Given the description of an element on the screen output the (x, y) to click on. 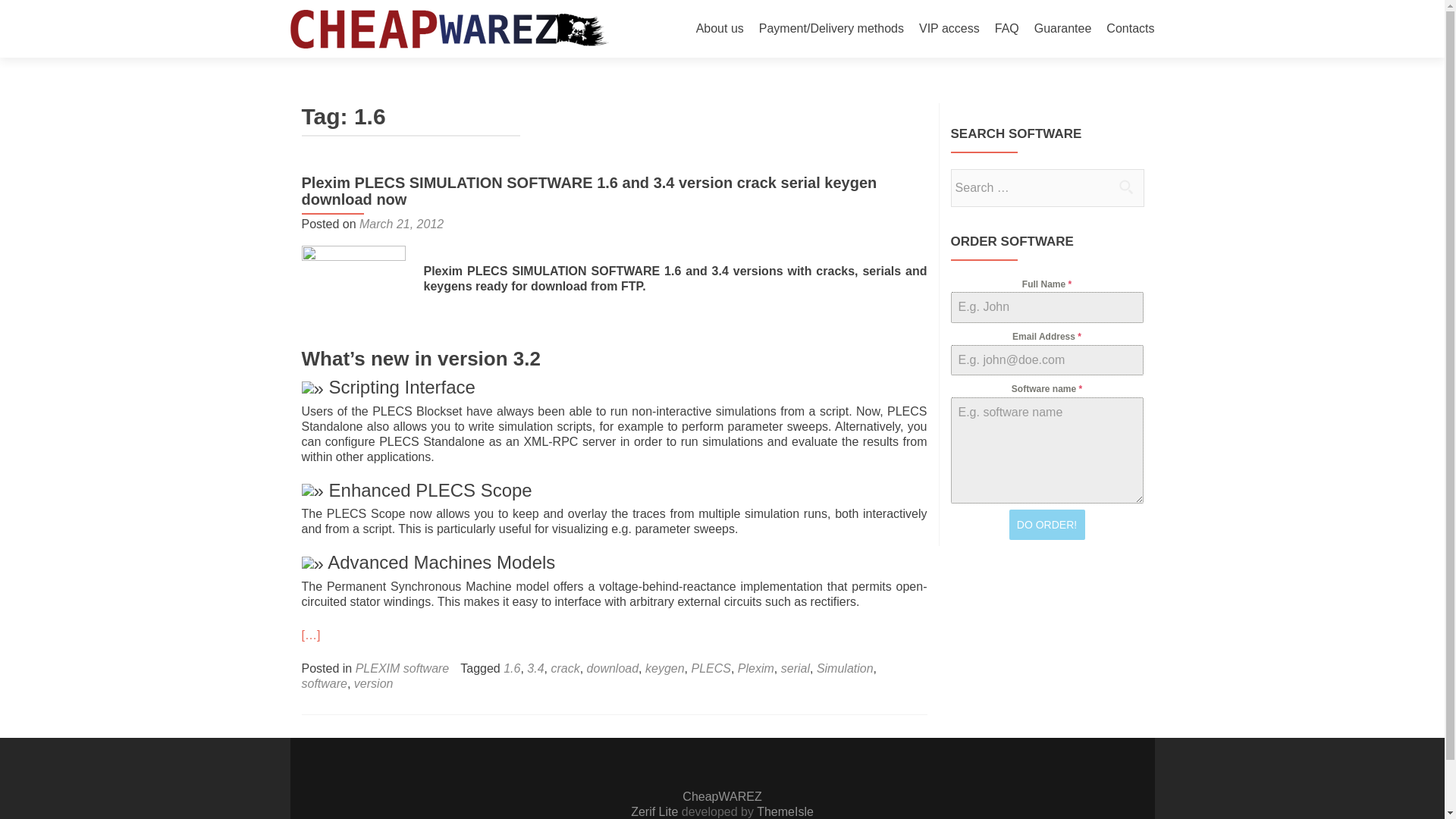
PLEXIM software (402, 667)
Search (1125, 185)
Simulation (844, 667)
PLECS (710, 667)
1.6 (511, 667)
Zerif Lite (655, 811)
download (612, 667)
crack (564, 667)
VIP access (948, 28)
software (324, 683)
Plexim (756, 667)
FAQ (1006, 28)
Contacts (1130, 28)
About us (719, 28)
